Given the description of an element on the screen output the (x, y) to click on. 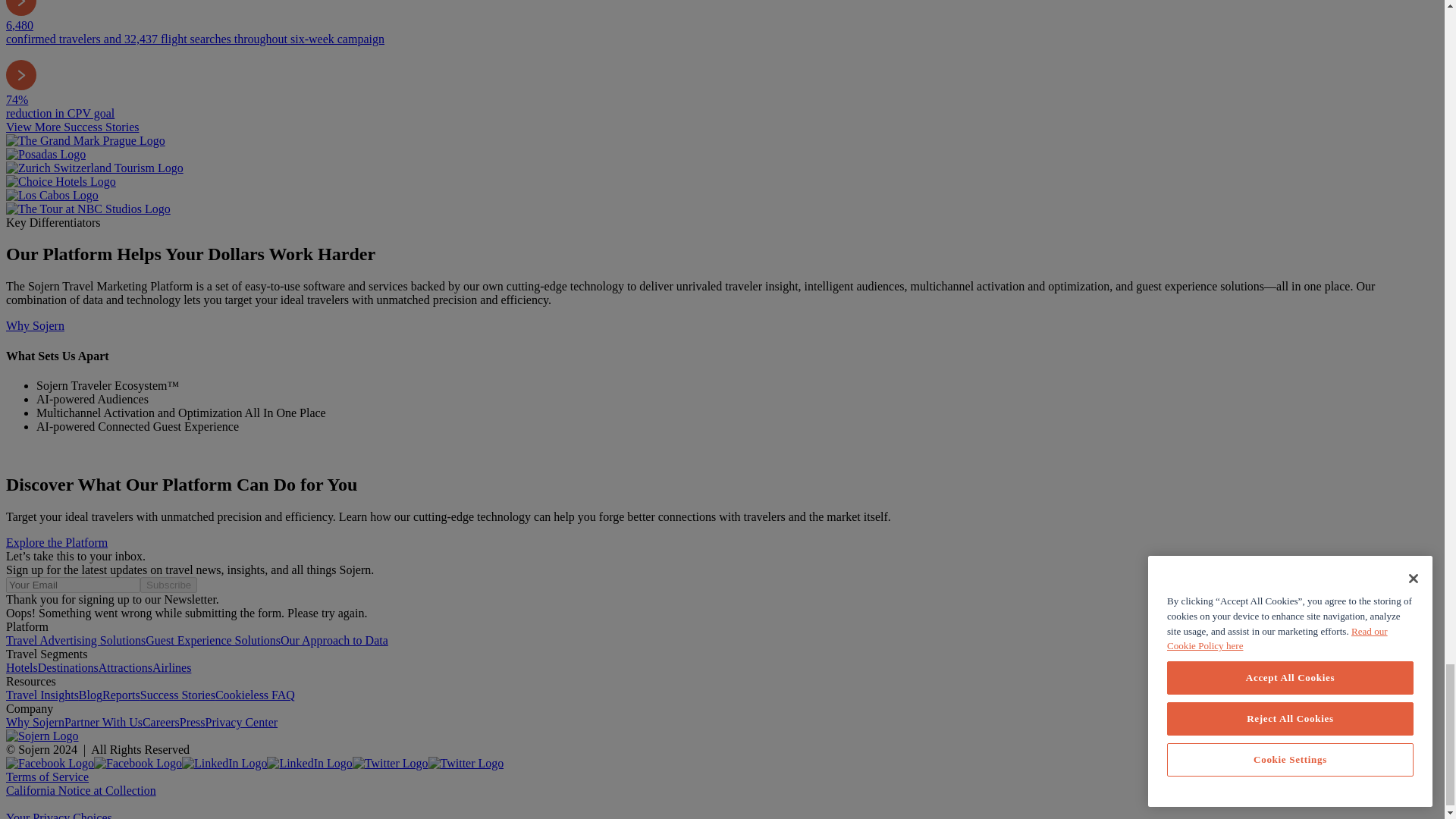
Subscribe (167, 584)
